Given the description of an element on the screen output the (x, y) to click on. 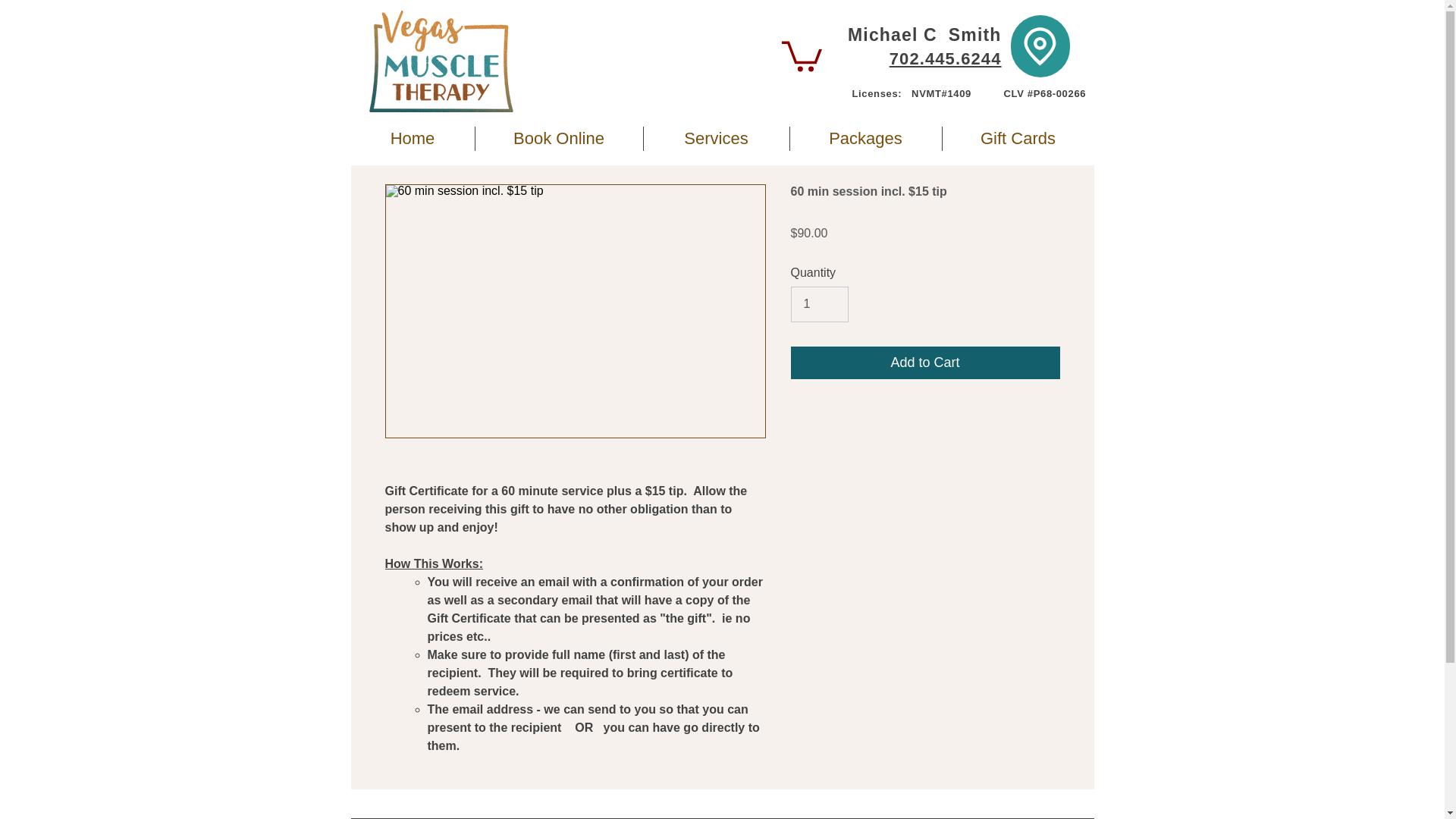
Book Online (558, 138)
Gift Cards (1017, 138)
Services (716, 138)
702.445.6244 (945, 58)
1 (818, 303)
Home (412, 138)
Add to Cart (924, 362)
Packages (866, 138)
Michael C  Smith (924, 35)
